Given the description of an element on the screen output the (x, y) to click on. 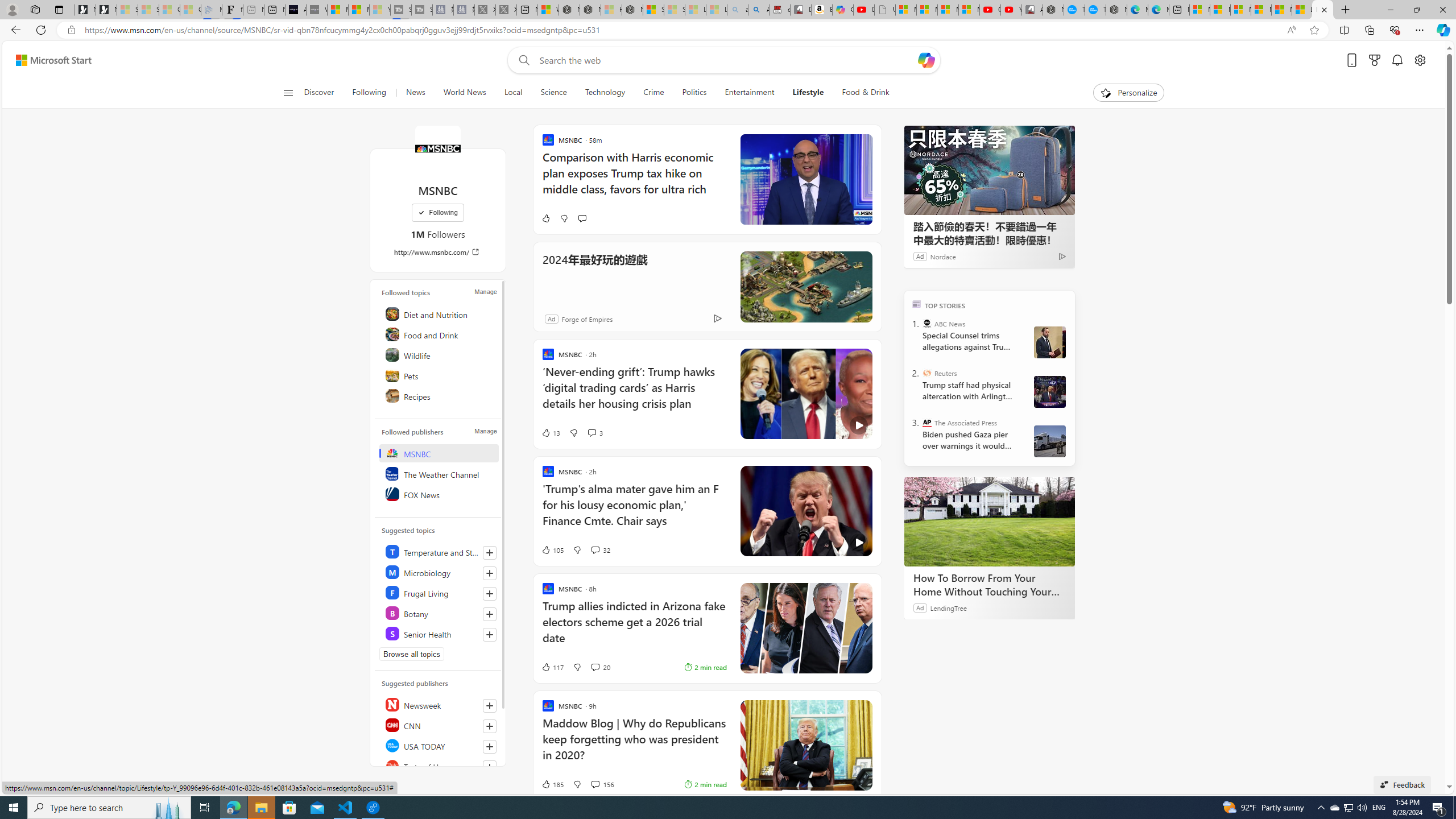
Newsweek (439, 704)
Politics (694, 92)
MSNBC (437, 148)
Manage (485, 430)
